Given the description of an element on the screen output the (x, y) to click on. 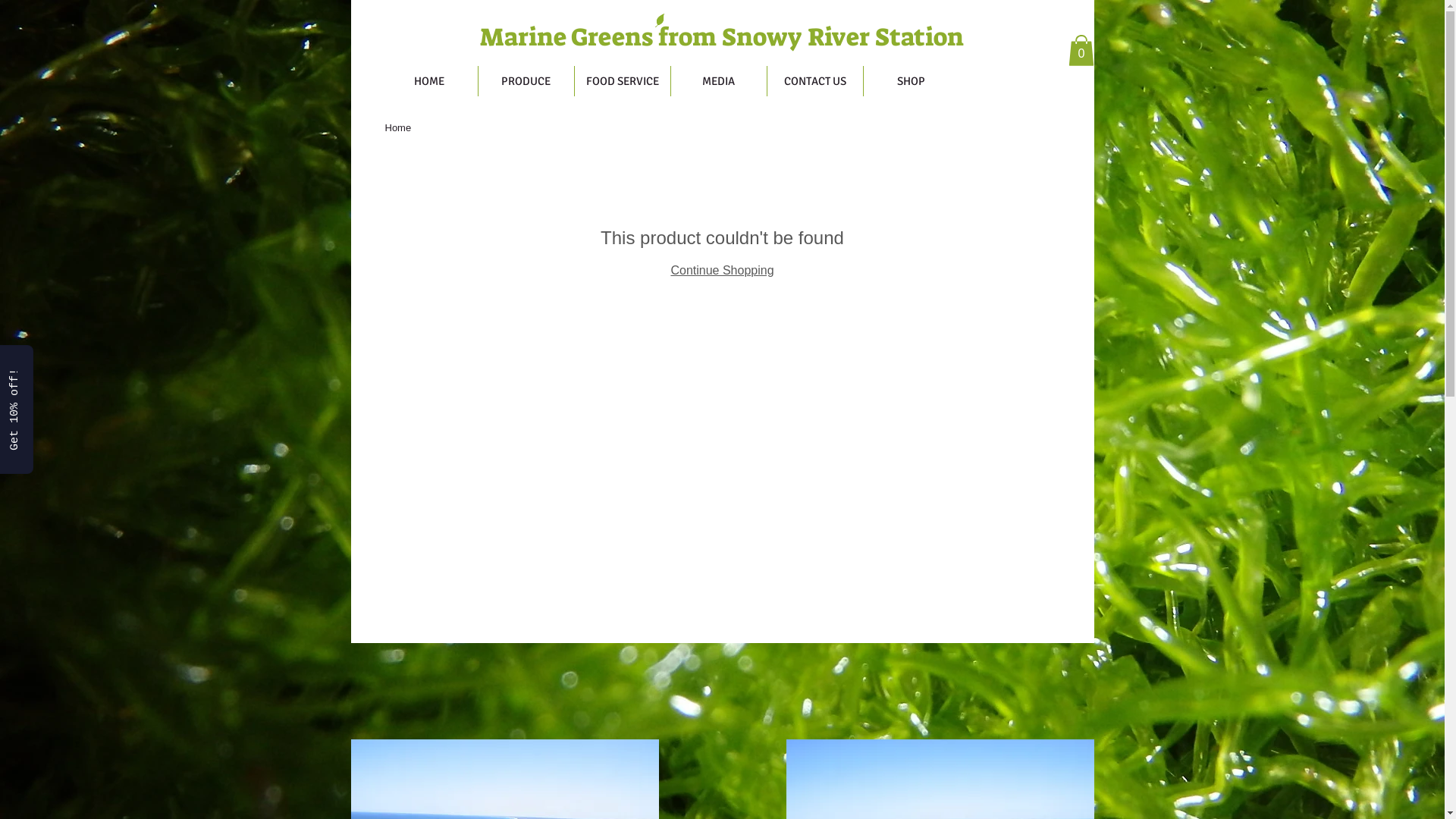
CONTACT US Element type: text (814, 80)
FOOD SERVICE Element type: text (622, 80)
HOME Element type: text (428, 80)
0 Element type: text (1080, 49)
SHOP Element type: text (910, 80)
PRODUCE Element type: text (525, 80)
MEDIA Element type: text (717, 80)
Continue Shopping Element type: text (721, 269)
Home Element type: text (398, 127)
